Given the description of an element on the screen output the (x, y) to click on. 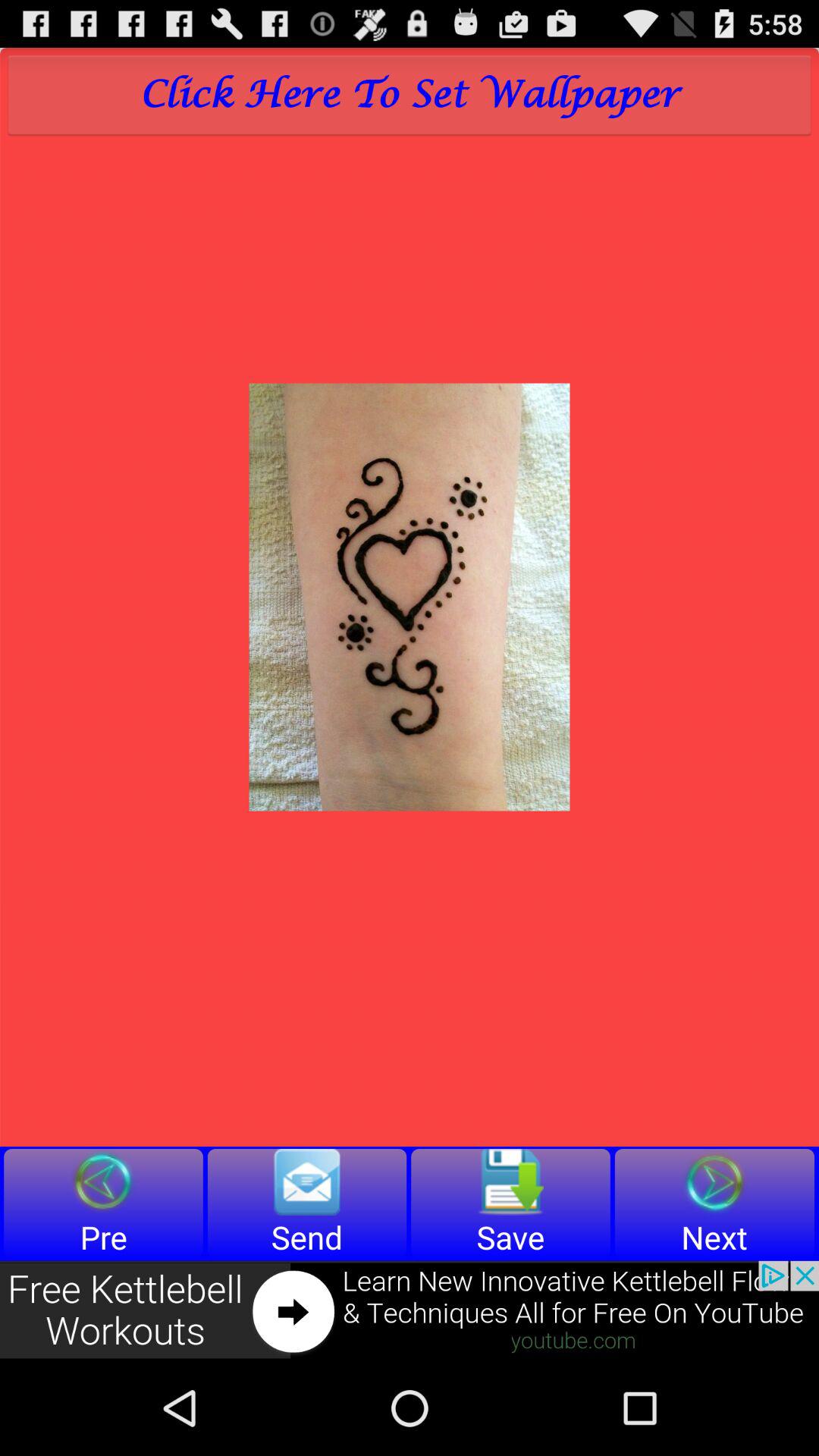
free kettlebell workouts (409, 1310)
